Given the description of an element on the screen output the (x, y) to click on. 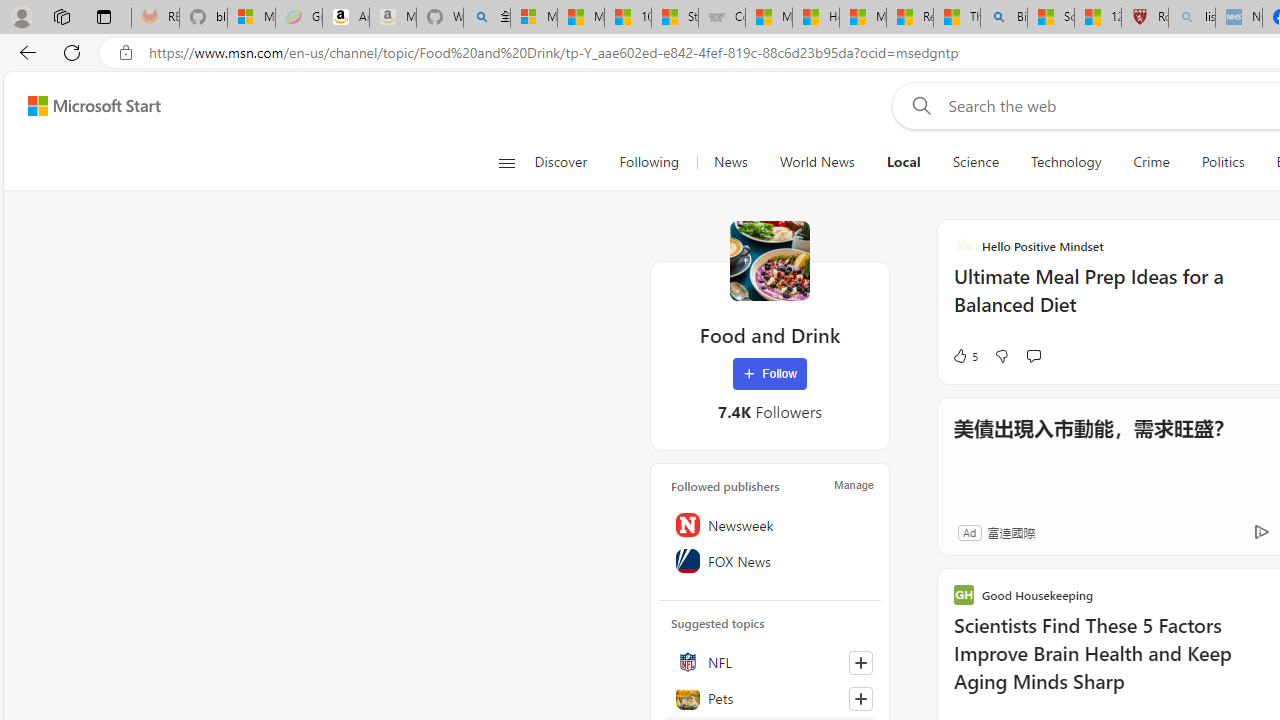
Crime (1150, 162)
Combat Siege (721, 17)
Technology (1065, 162)
Manage (854, 484)
How I Got Rid of Microsoft Edge's Unnecessary Features (815, 17)
Science - MSN (1050, 17)
Web search (917, 105)
Bing (1003, 17)
Skip to content (86, 105)
